Given the description of an element on the screen output the (x, y) to click on. 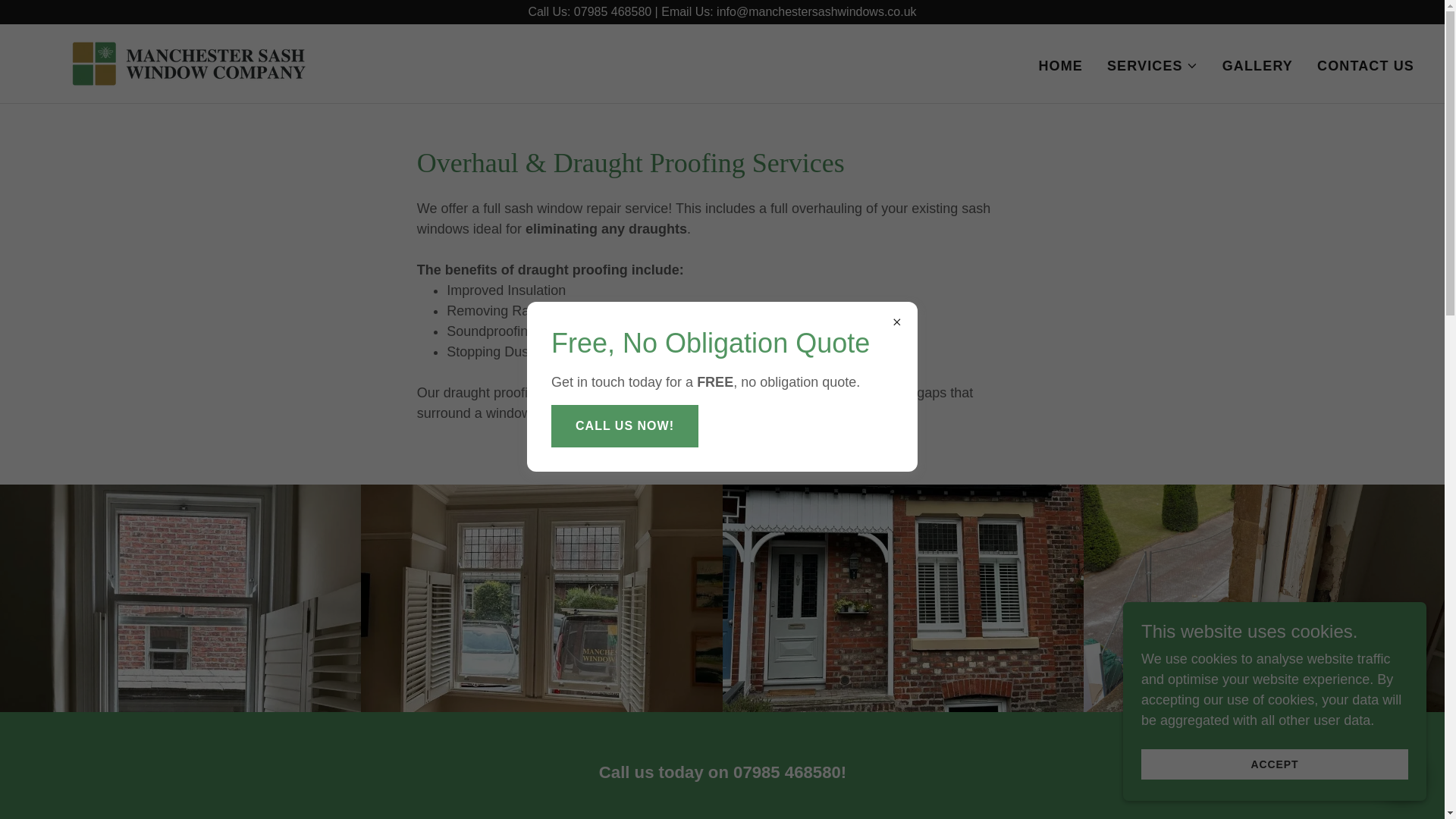
GALLERY (1257, 64)
ACCEPT (1274, 764)
CALL US NOW! (624, 425)
CONTACT US (1365, 64)
HOME (1060, 64)
Manchester Sash Window Company (188, 62)
SERVICES (1152, 65)
